Given the description of an element on the screen output the (x, y) to click on. 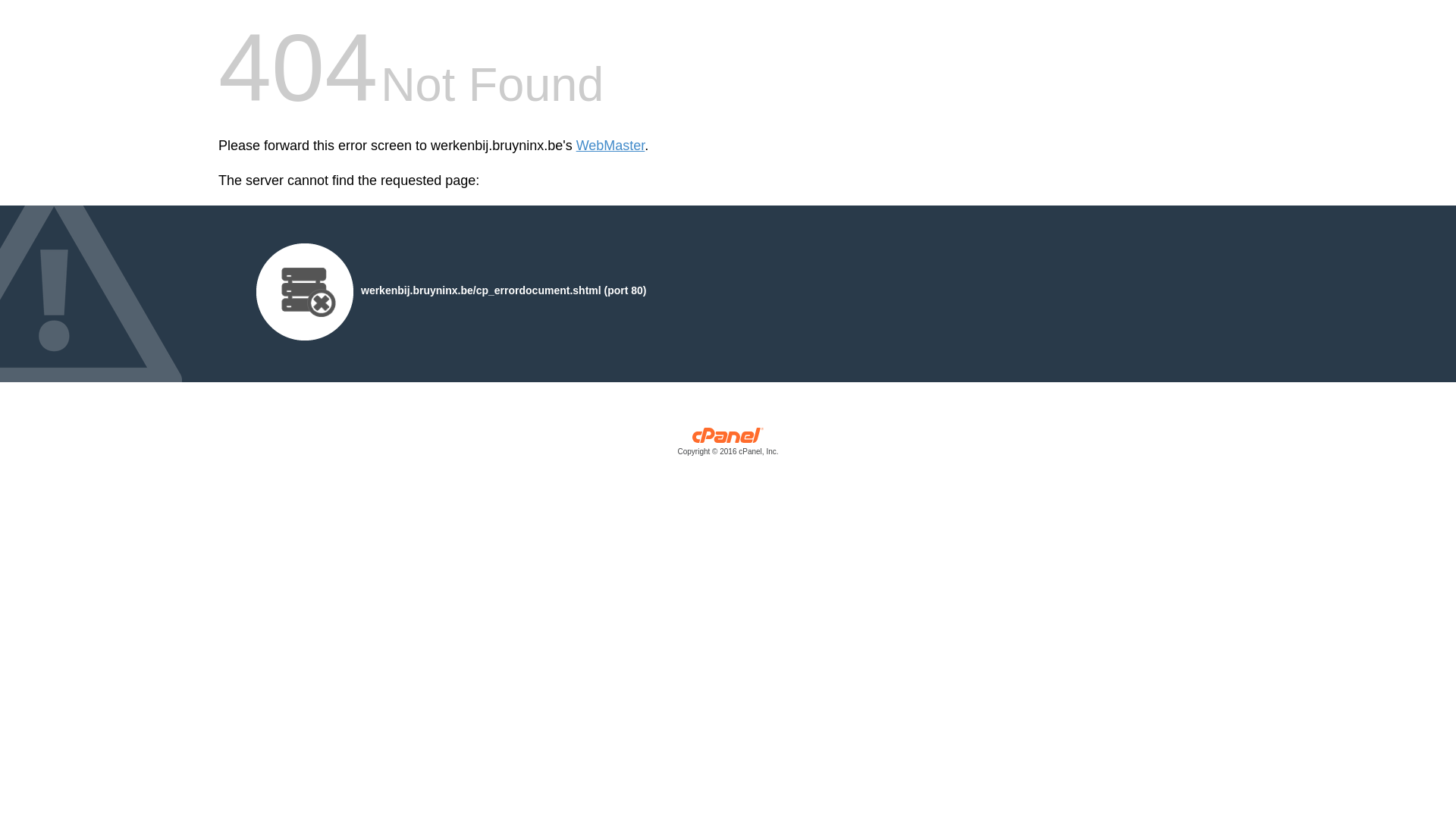
WebMaster Element type: text (610, 145)
